Given the description of an element on the screen output the (x, y) to click on. 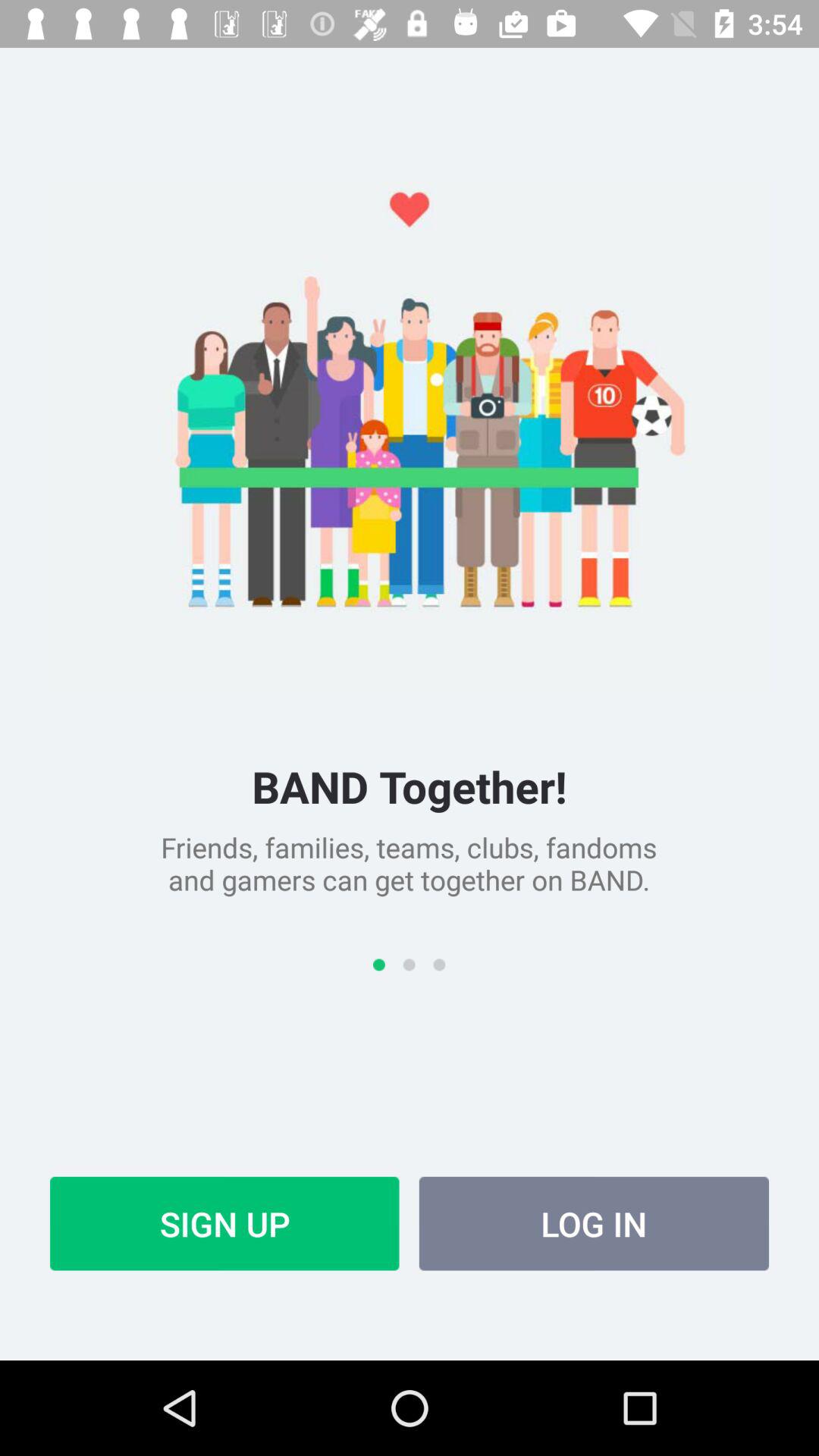
turn off the item at the bottom right corner (593, 1223)
